Given the description of an element on the screen output the (x, y) to click on. 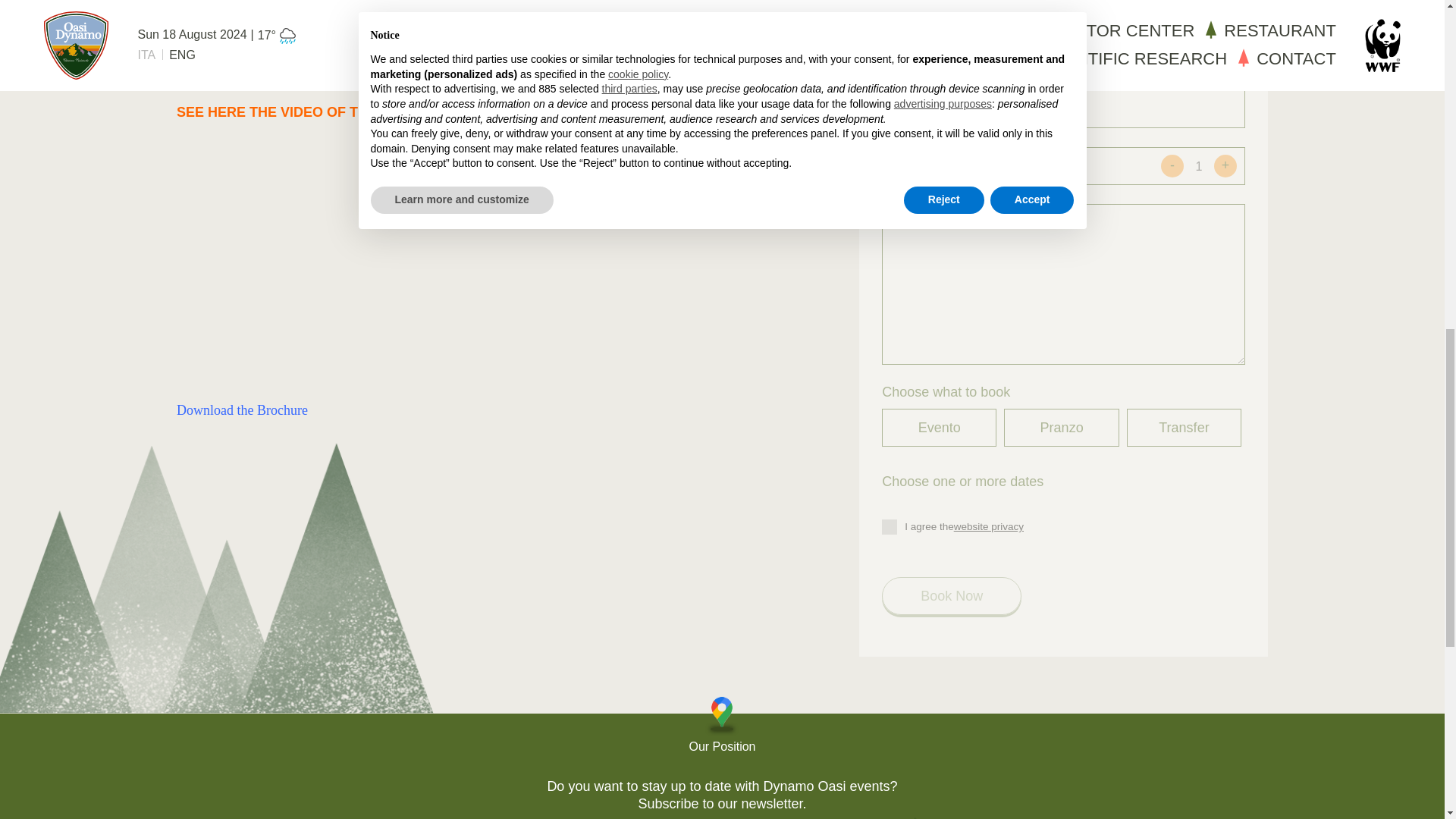
Our Position (721, 725)
Book Now (952, 596)
Download the Brochure (241, 409)
Book Now (952, 596)
SEE HERE THE VIDEO OF THE EVENT (301, 111)
YouTube video player (388, 259)
website privacy (988, 526)
trovaci su google map (721, 725)
1 (1198, 165)
